Given the description of an element on the screen output the (x, y) to click on. 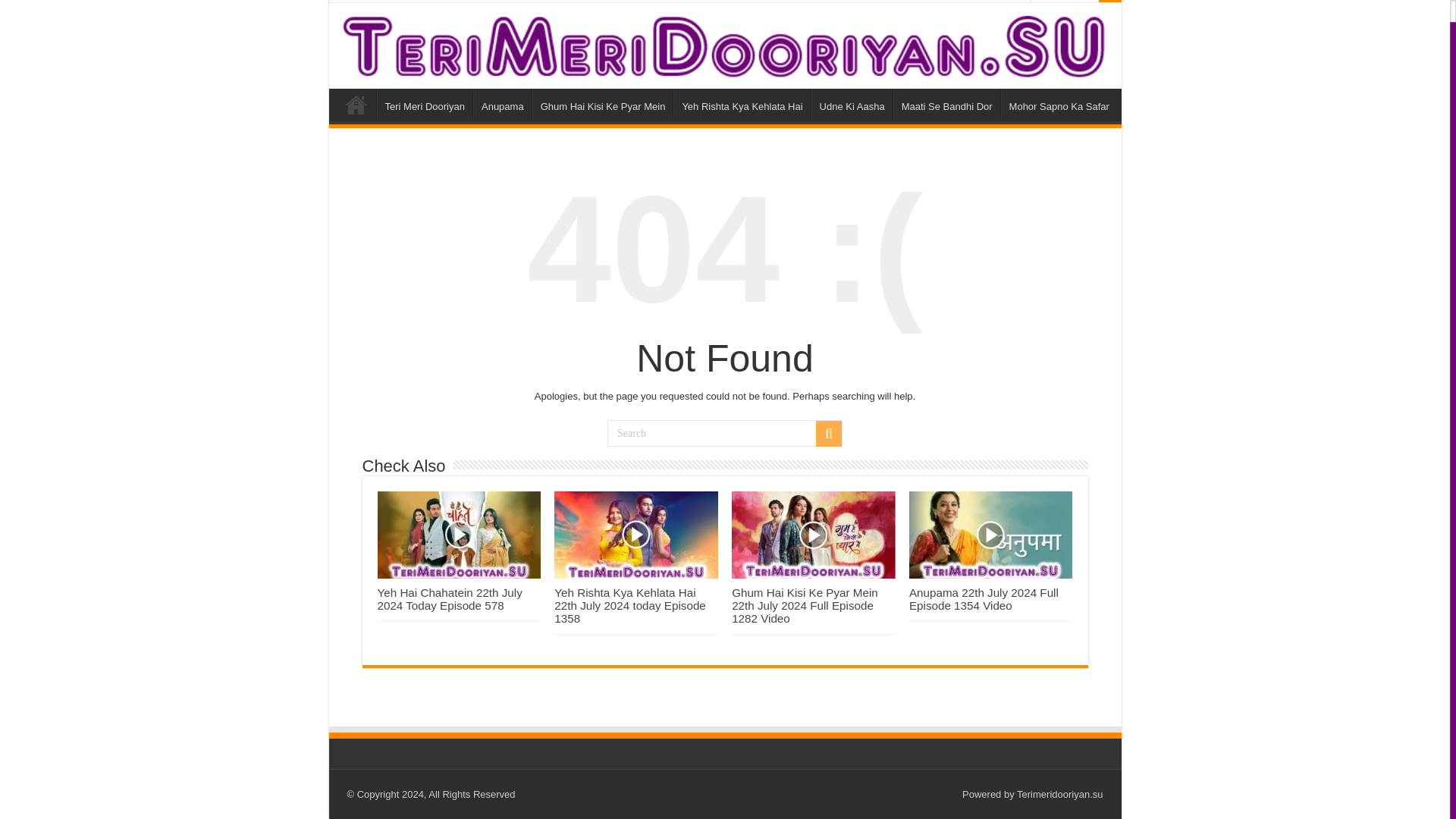
Udne Ki Aasha (851, 104)
Ghum Hai Kisi Ke Pyar Mein (602, 104)
HomePage (359, 1)
terimeridooriyan.su (725, 45)
Yeh Hai Chahatein 22th July 2024 Today Episode 578 (449, 597)
HomePage (355, 104)
Maati Se Bandhi Dor (946, 104)
Anupama 22th July 2024 Full Episode 1354 Video (983, 597)
Yeh Rishta Kya Kehlata Hai 22th July 2024 today Episode 1358 (629, 604)
